Given the description of an element on the screen output the (x, y) to click on. 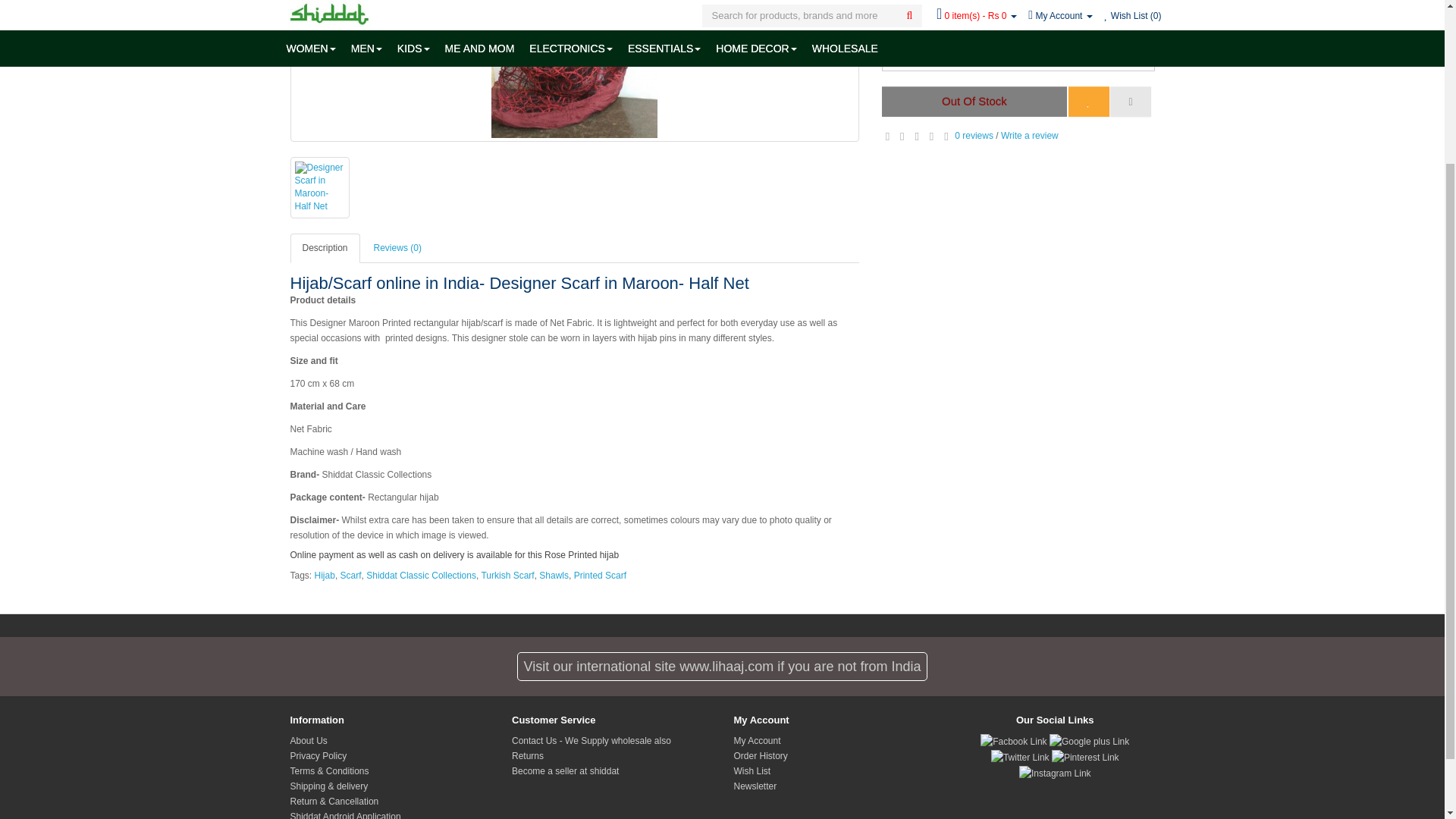
Designer Scarf in Maroon- Half Net (319, 187)
Designer Scarf in Maroon- Half Net (574, 70)
Designer Scarf in Maroon- Half Net (318, 187)
Designer Scarf in Maroon- Half Net (573, 69)
1 (1018, 58)
